Given the description of an element on the screen output the (x, y) to click on. 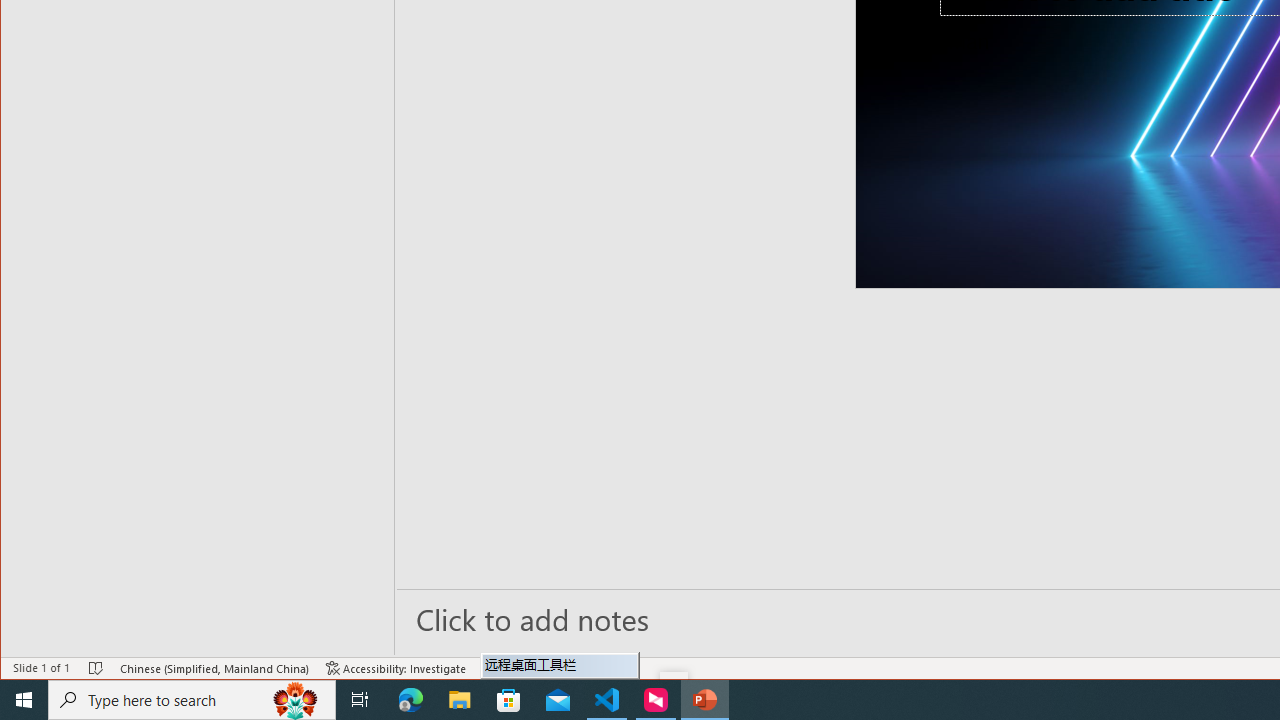
Microsoft Edge (411, 699)
